Given the description of an element on the screen output the (x, y) to click on. 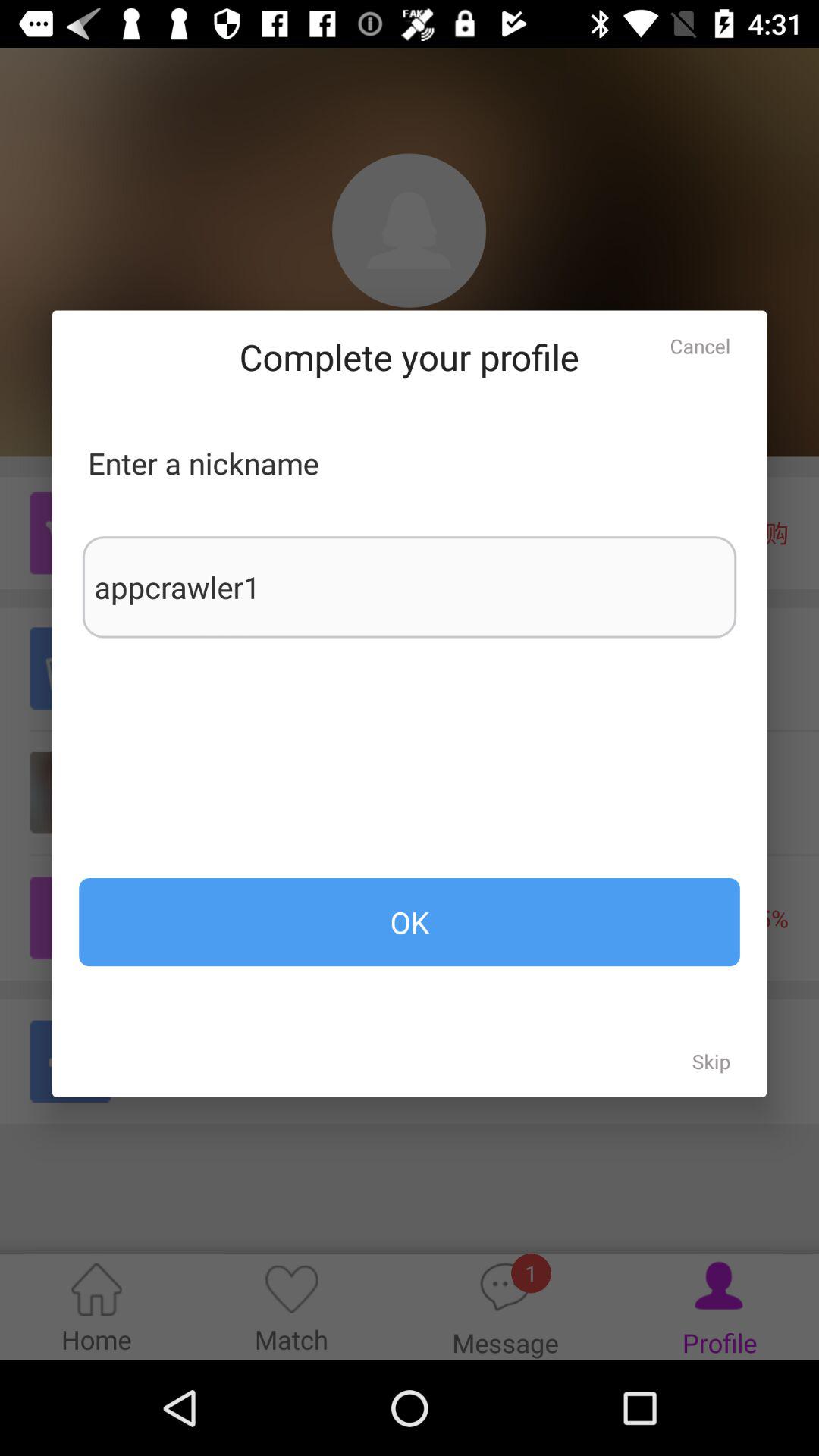
tap the icon above ok icon (409, 587)
